Given the description of an element on the screen output the (x, y) to click on. 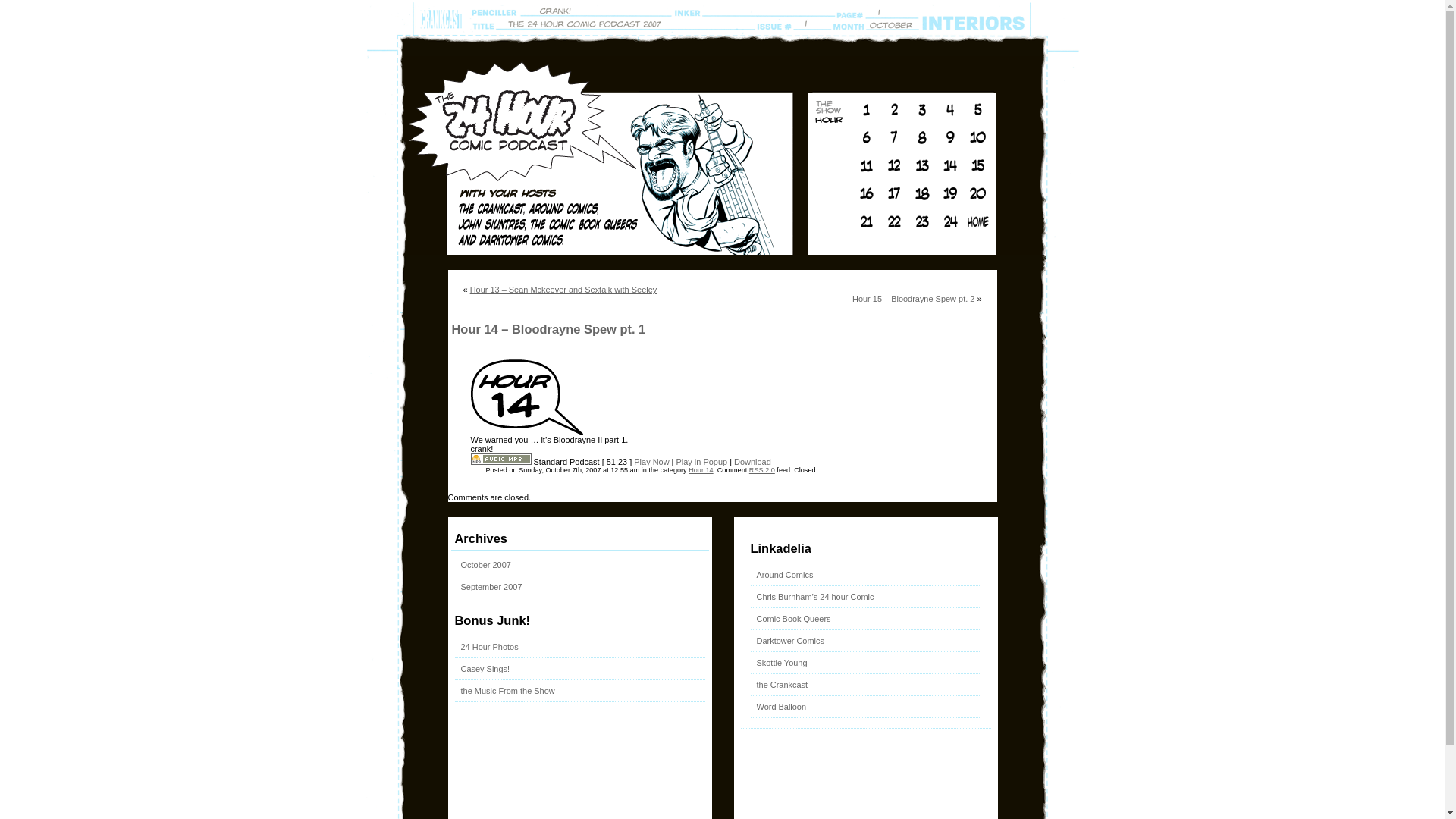
September 2007 Element type: text (491, 586)
RSS 2.0 Element type: text (762, 469)
Comic Book Queers Element type: text (793, 618)
the Music From the Show Element type: text (508, 690)
October 2007 Element type: text (486, 564)
Hour 14 Element type: text (700, 469)
Word Balloon Element type: text (781, 706)
the Crankcast Element type: text (782, 684)
Darktower Comics Element type: text (790, 640)
Play in Popup Element type: text (702, 461)
Download Element type: text (752, 461)
Play Now Element type: text (650, 461)
Skottie Young Element type: text (781, 662)
Download: Standard Podcast Element type: hover (500, 461)
Casey Sings! Element type: text (485, 668)
24 Hour Photos Element type: text (489, 646)
Around Comics Element type: text (784, 574)
